Given the description of an element on the screen output the (x, y) to click on. 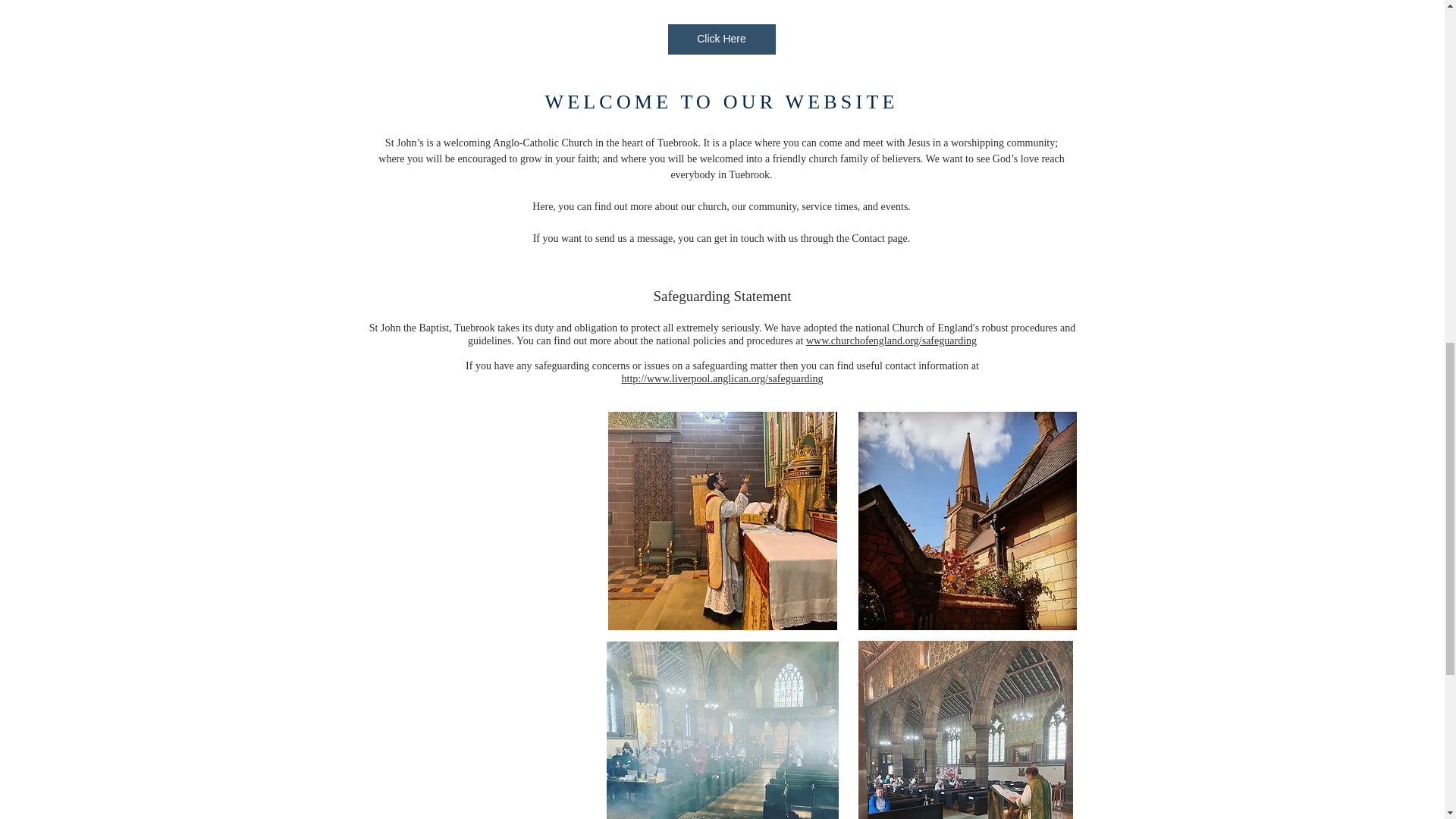
Click Here (720, 39)
